Given the description of an element on the screen output the (x, y) to click on. 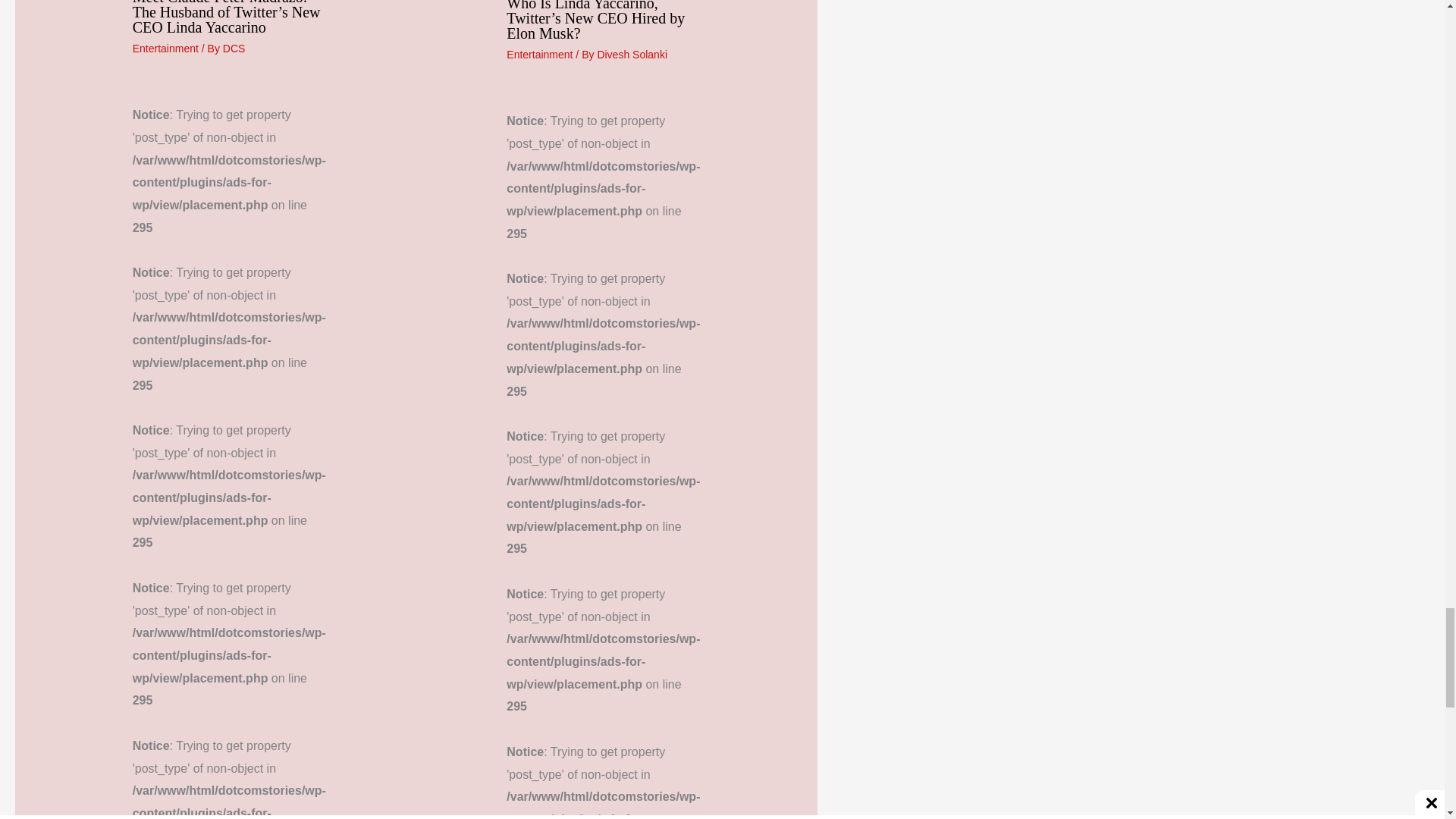
Entertainment (165, 48)
View all posts by Divesh Solanki (631, 54)
View all posts by DCS (234, 48)
